Given the description of an element on the screen output the (x, y) to click on. 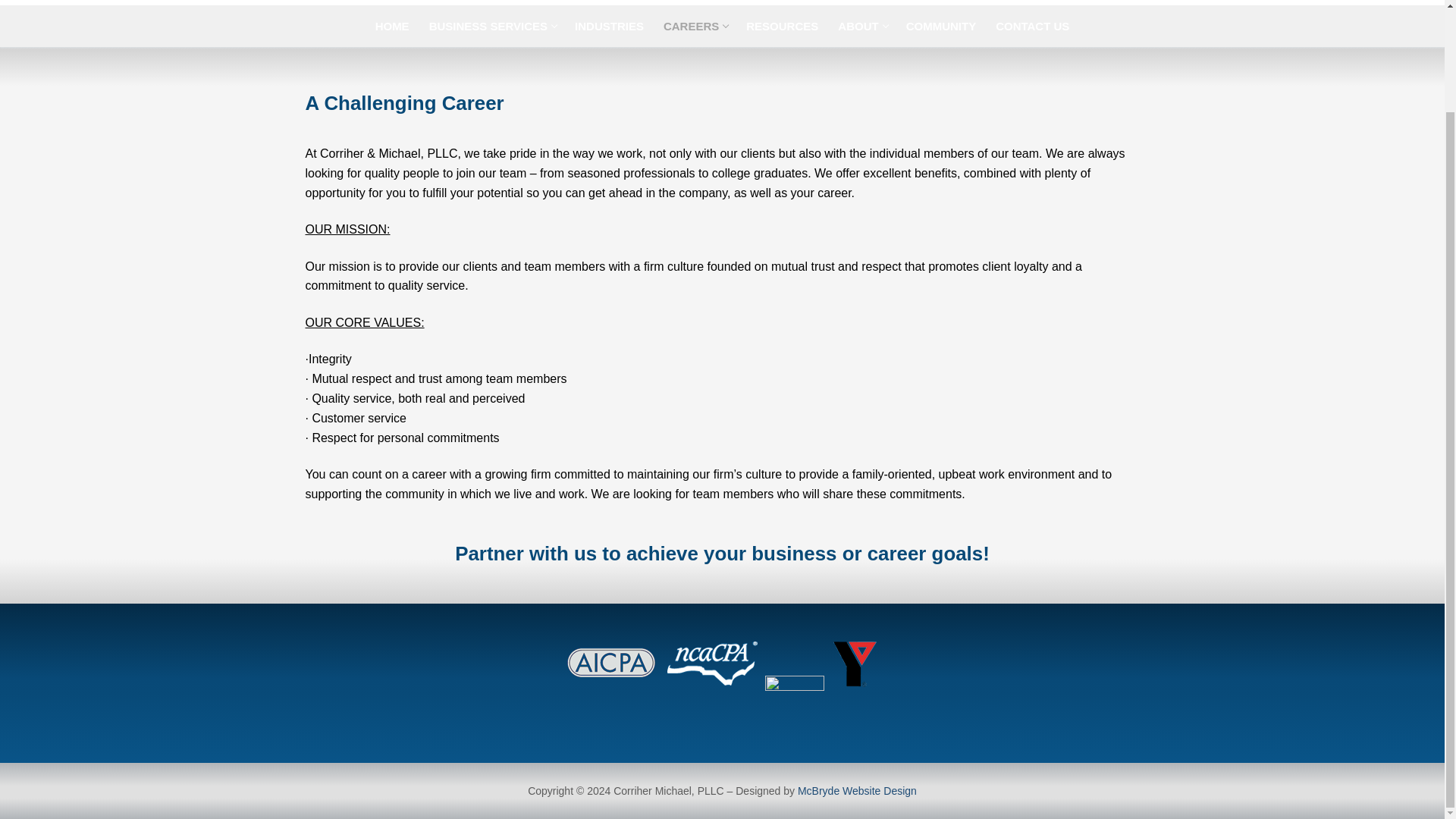
CONTACT US (1031, 25)
INDUSTRIES (608, 25)
McBryde Website Design (491, 25)
HOME (857, 790)
COMMUNITY (694, 25)
RESOURCES (392, 25)
